Given the description of an element on the screen output the (x, y) to click on. 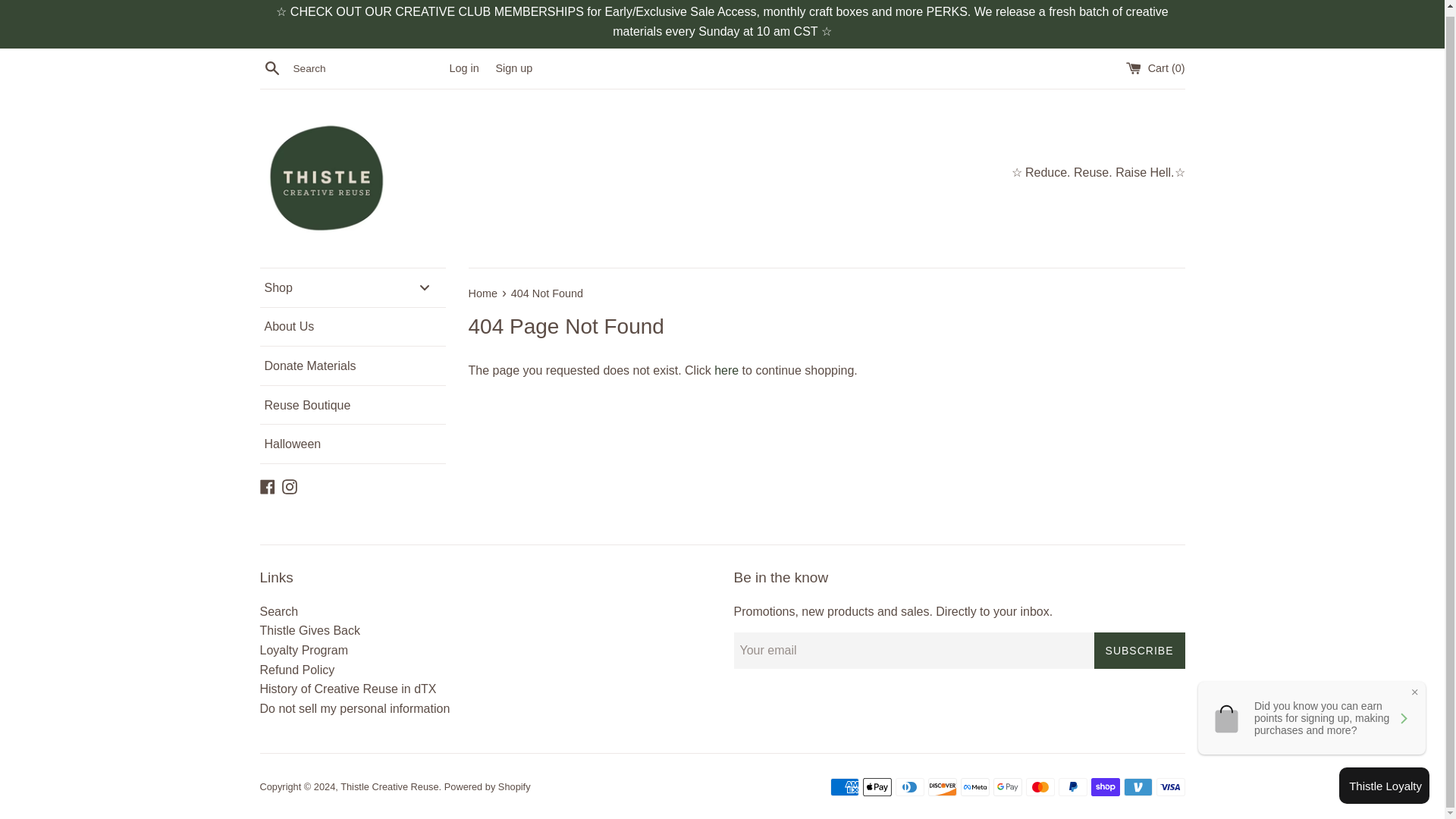
Log in (463, 68)
Shop (352, 287)
Diners Club (909, 787)
Meta Pay (973, 787)
Apple Pay (877, 787)
Thistle Creative Reuse on Instagram (289, 485)
Venmo (1138, 787)
Google Pay (1007, 787)
Sign up (513, 68)
Thistle Creative Reuse on Facebook (267, 485)
